Given the description of an element on the screen output the (x, y) to click on. 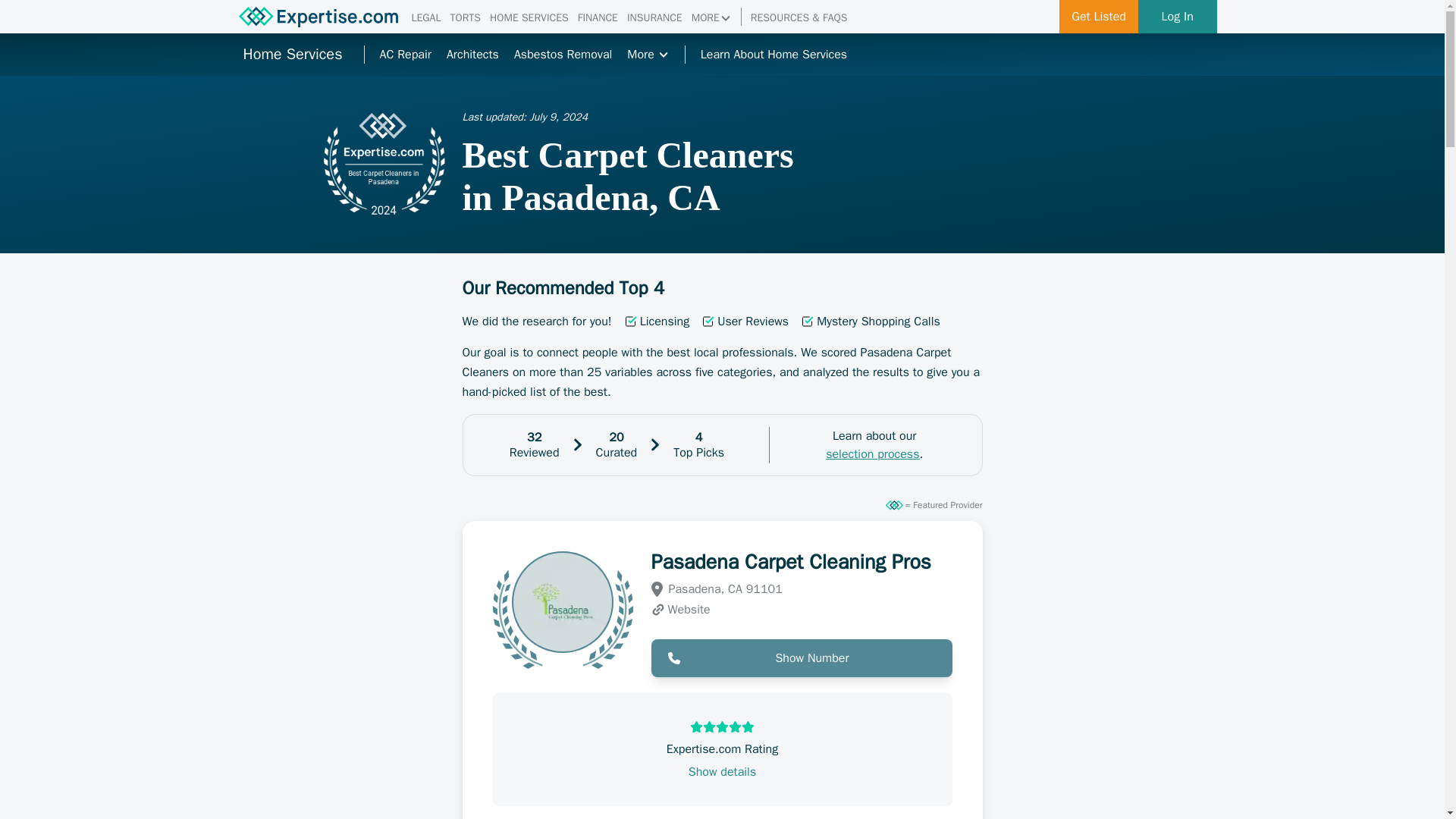
LEGAL (425, 17)
Get Listed (1098, 16)
Architects (472, 54)
AC Repair (405, 54)
INSURANCE (654, 17)
TORTS (464, 17)
FINANCE (597, 17)
MORE (711, 17)
HOME SERVICES (529, 17)
More (647, 54)
Asbestos Removal (562, 54)
Home Services (291, 53)
Log In (1177, 16)
